Given the description of an element on the screen output the (x, y) to click on. 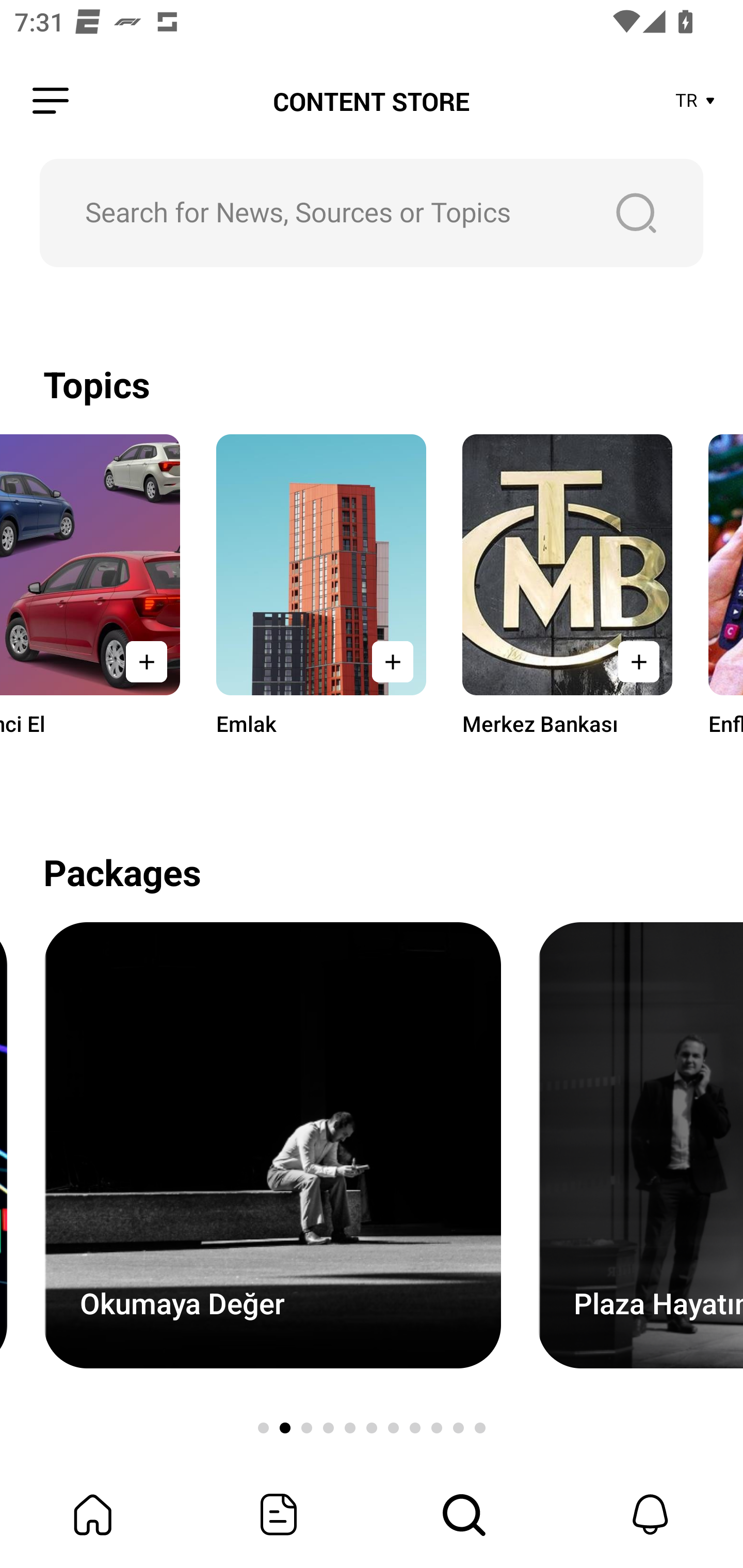
Leading Icon (50, 101)
TR Store Area (695, 101)
Search for News, Sources or Topics Search Button (371, 212)
Add To My Bundle (146, 661)
Add To My Bundle (392, 661)
Add To My Bundle (638, 661)
Content Store Discover Card Image Okumaya Değer (271, 1144)
My Bundle (92, 1514)
Featured (278, 1514)
Notifications (650, 1514)
